Given the description of an element on the screen output the (x, y) to click on. 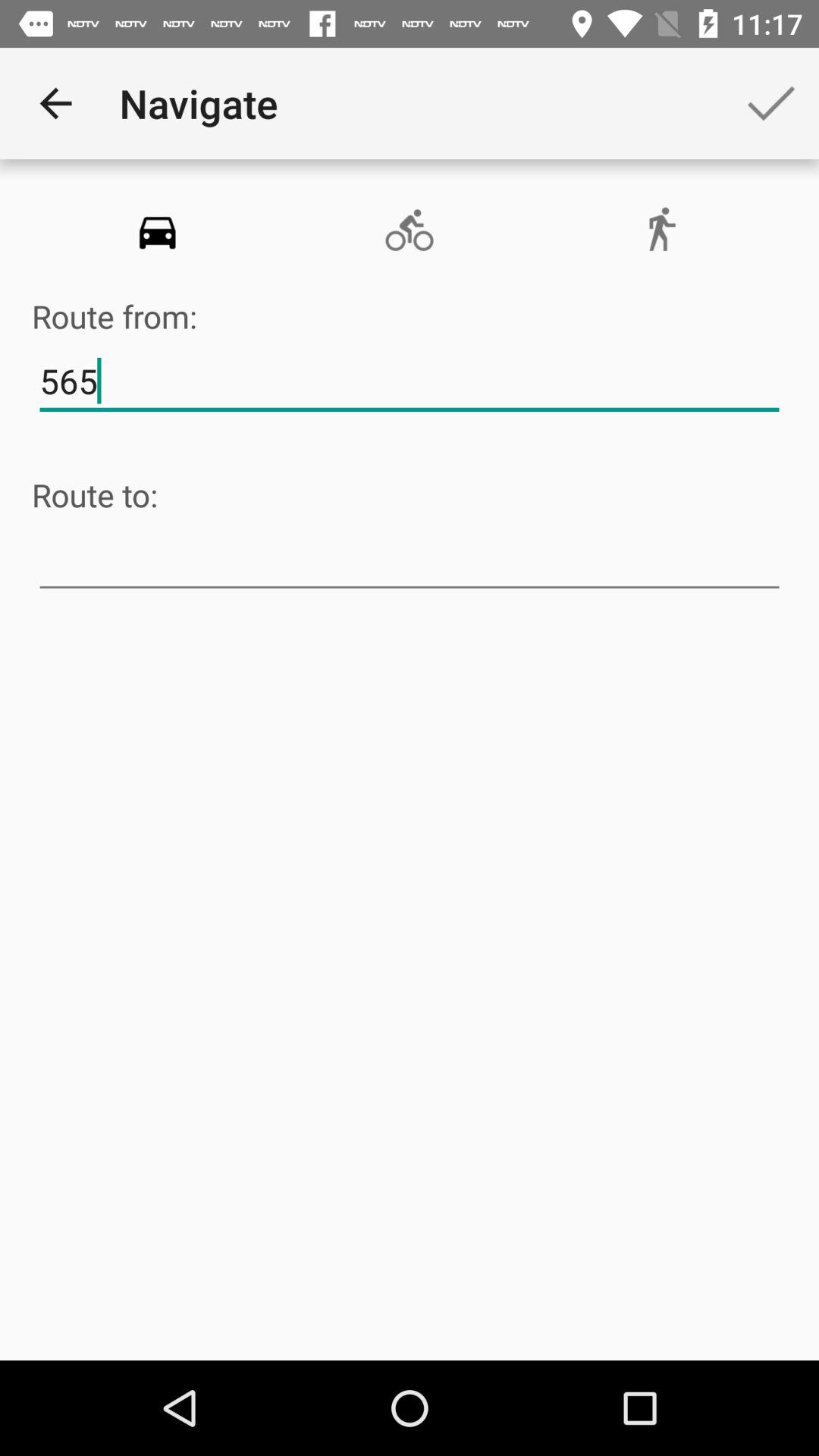
press app next to navigate (55, 103)
